Given the description of an element on the screen output the (x, y) to click on. 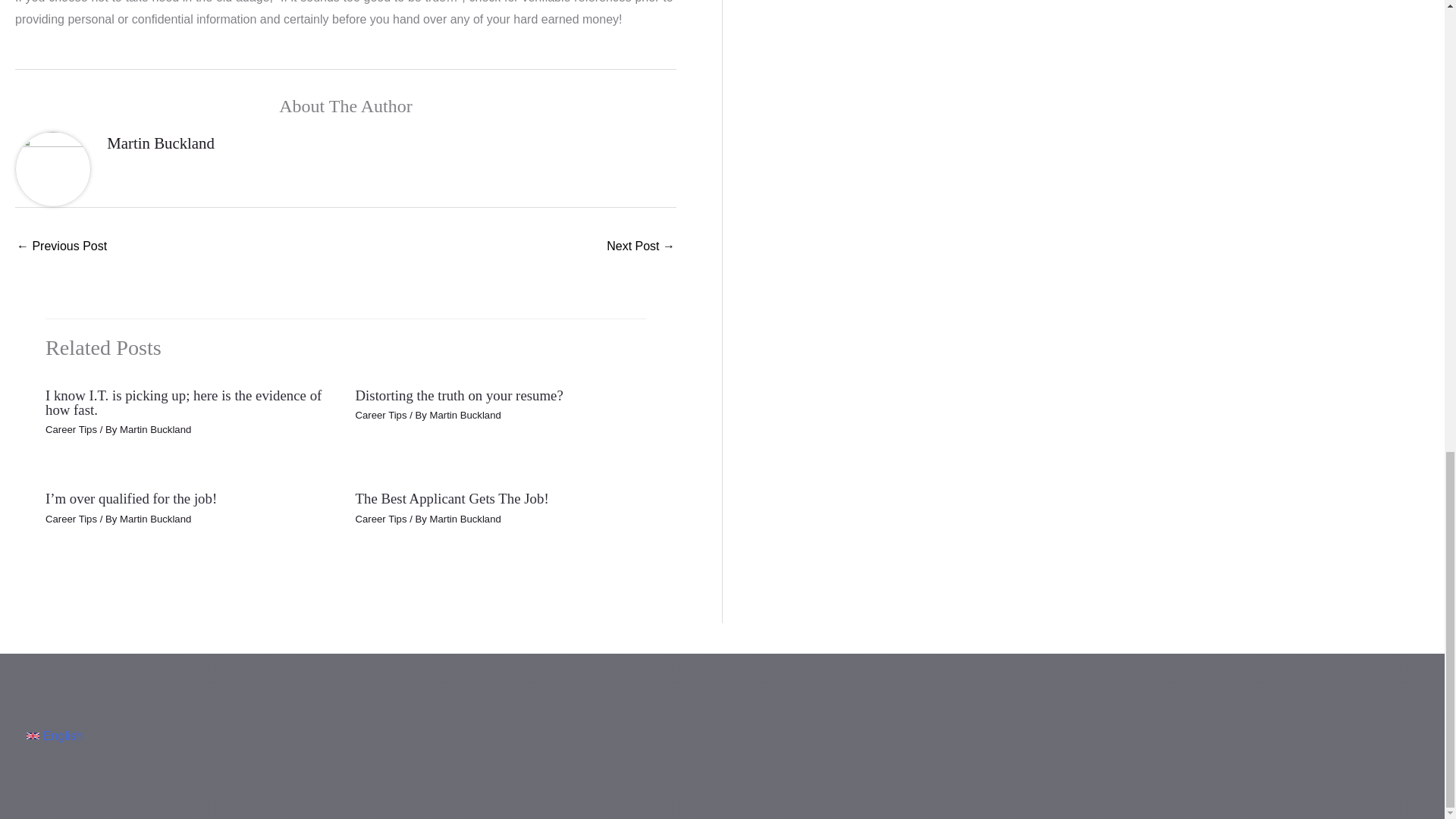
View all posts by Martin Buckland (154, 518)
View all posts by Martin Buckland (154, 429)
Networking and Negative Comments (641, 247)
View all posts by Martin Buckland (464, 414)
Do you need a degree to get a job? (61, 247)
Martin Buckland (160, 142)
